Given the description of an element on the screen output the (x, y) to click on. 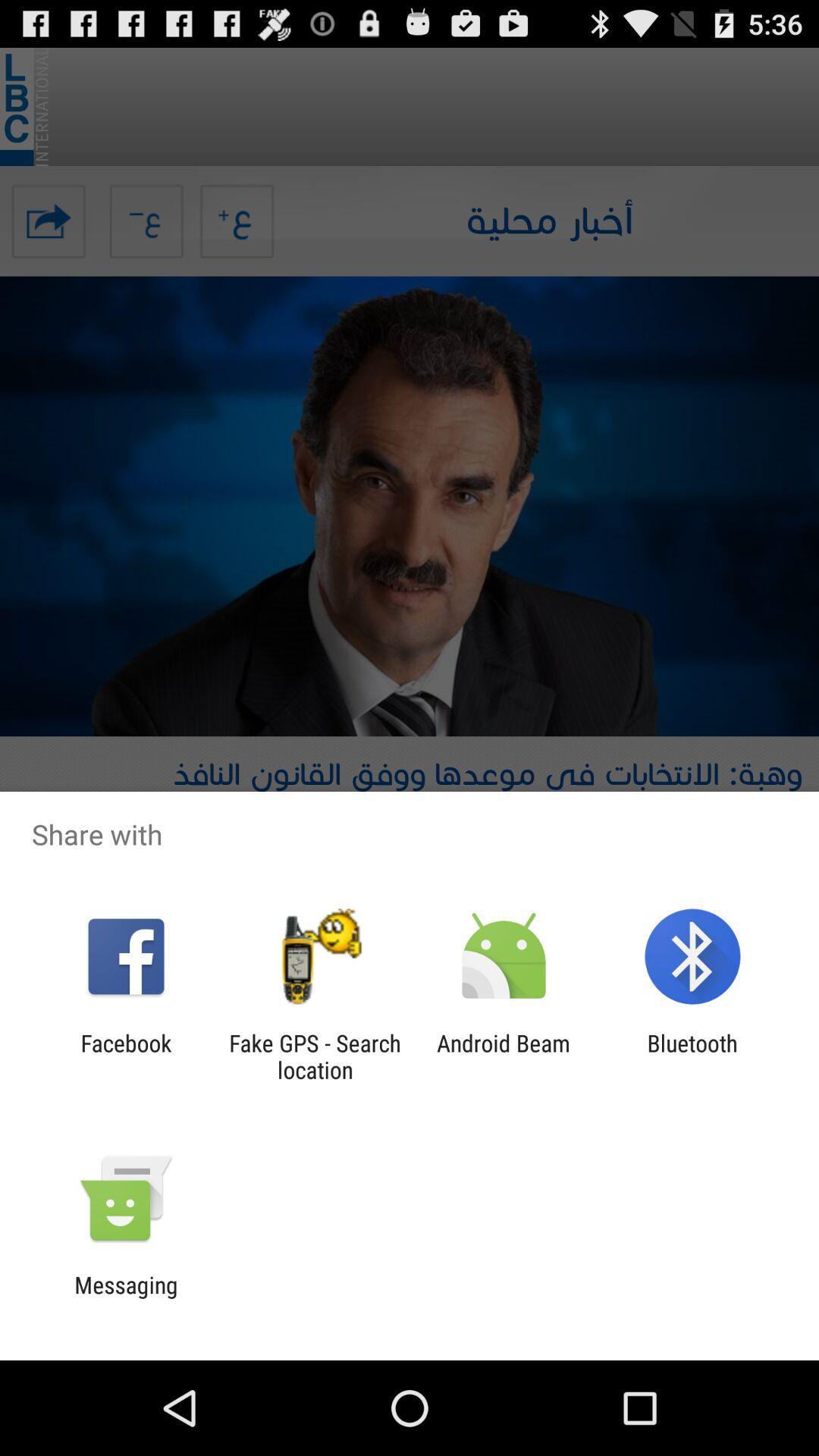
flip to the android beam item (503, 1056)
